Given the description of an element on the screen output the (x, y) to click on. 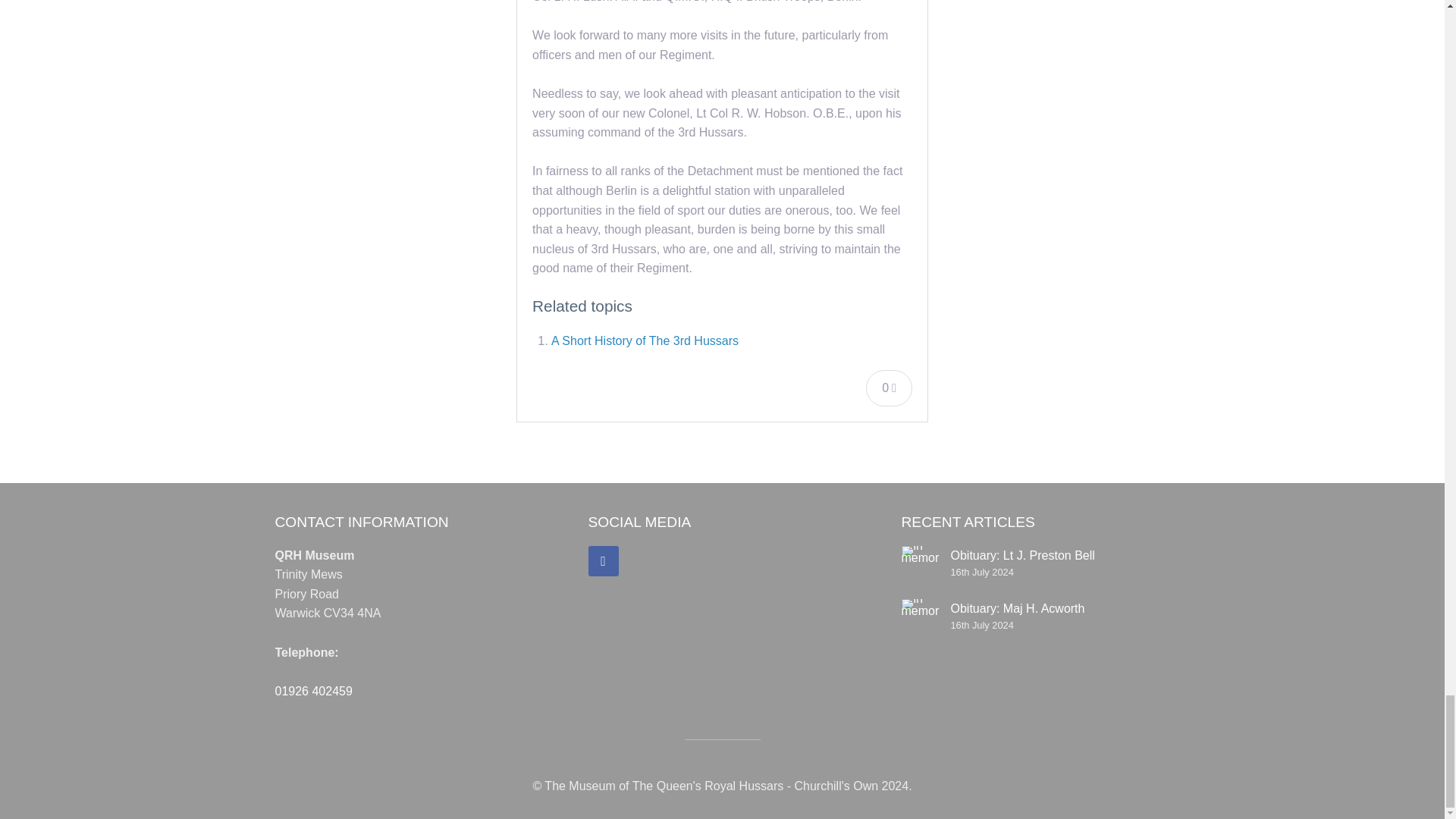
0 (889, 387)
Facebook (603, 561)
A Short History of The 3rd Hussars (644, 340)
